Given the description of an element on the screen output the (x, y) to click on. 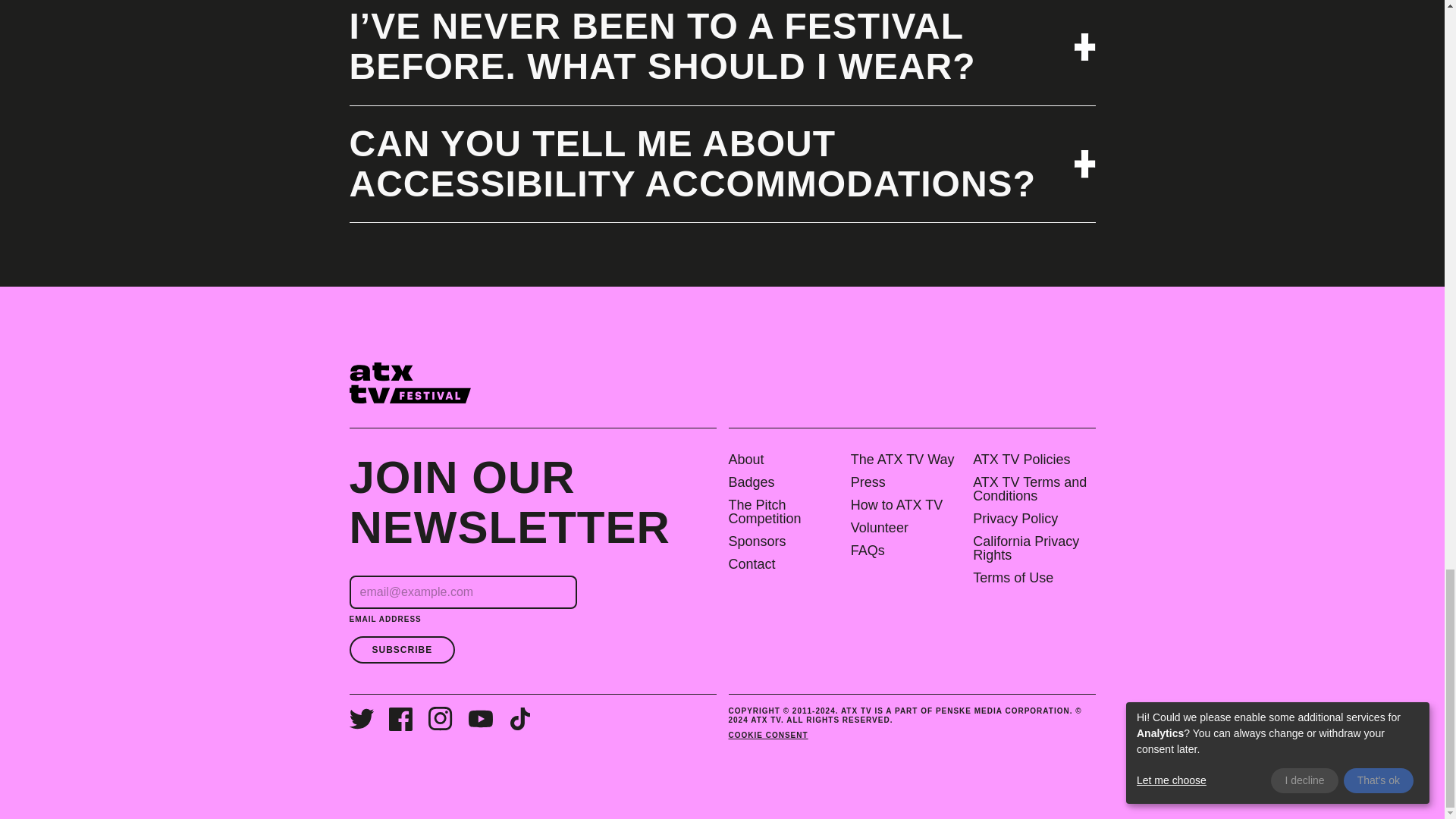
The Pitch Competition (786, 511)
About (786, 459)
Subscribe (401, 649)
CAN YOU TELL ME ABOUT ACCESSIBILITY ACCOMMODATIONS? (721, 164)
Sponsors (786, 540)
Subscribe (401, 649)
The ATX TV Way (908, 459)
Badges (786, 481)
Contact (786, 563)
